Given the description of an element on the screen output the (x, y) to click on. 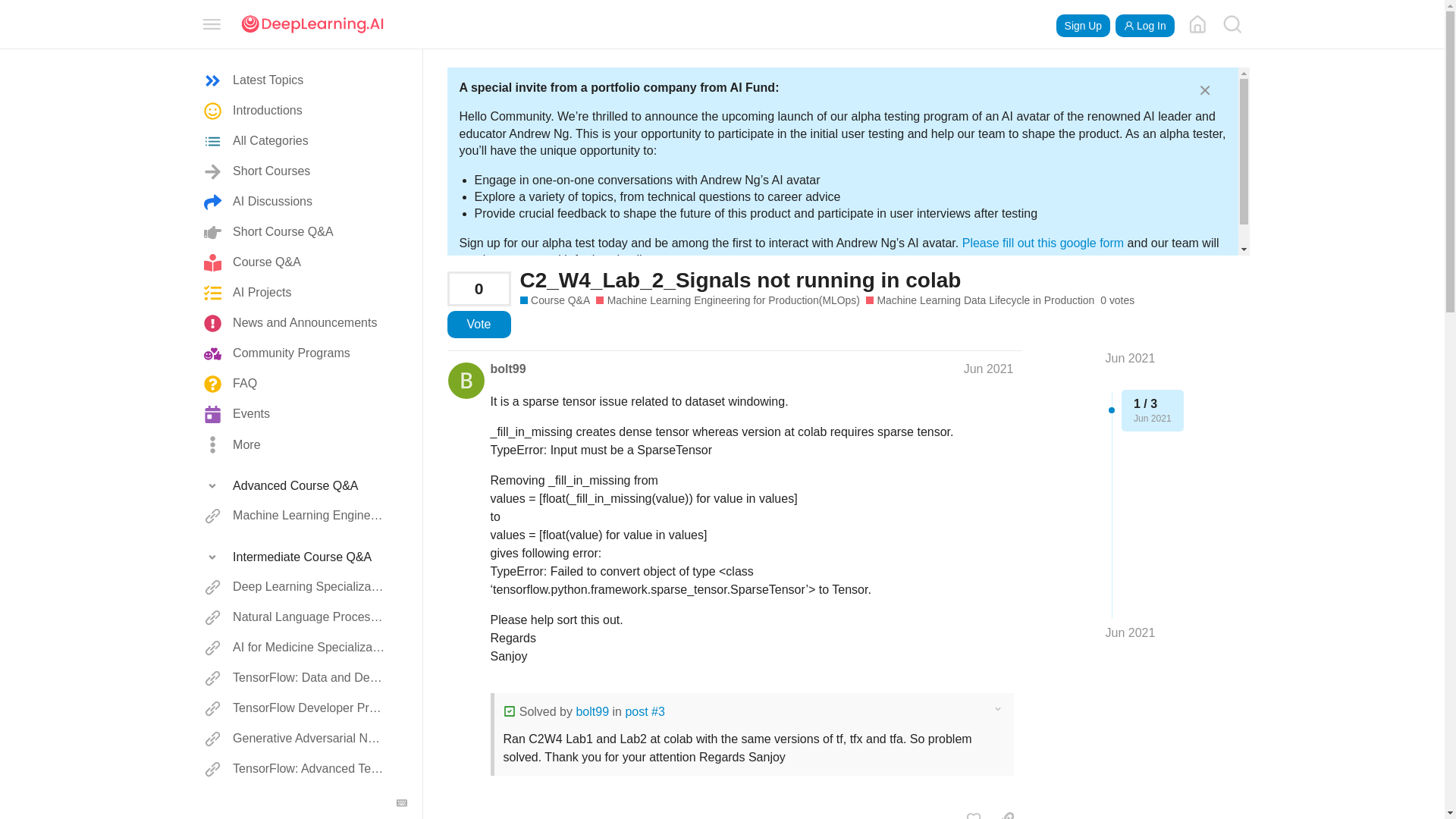
Toggle section (296, 556)
Generative AI with LLMs (296, 799)
More (296, 444)
All topics (296, 81)
Ask questions related to DeepLearning.AI courses (555, 300)
Log In (1144, 25)
Toggle section (296, 485)
Community Programs (296, 354)
TensorFlow: Advanced Techniques Specialization (296, 769)
Search (1231, 23)
AI for Medicine Specialization (296, 648)
Sidebar (211, 23)
AI Discussions (296, 202)
Sign Up (1083, 25)
Deep Learning Forum home page (1197, 23)
